Given the description of an element on the screen output the (x, y) to click on. 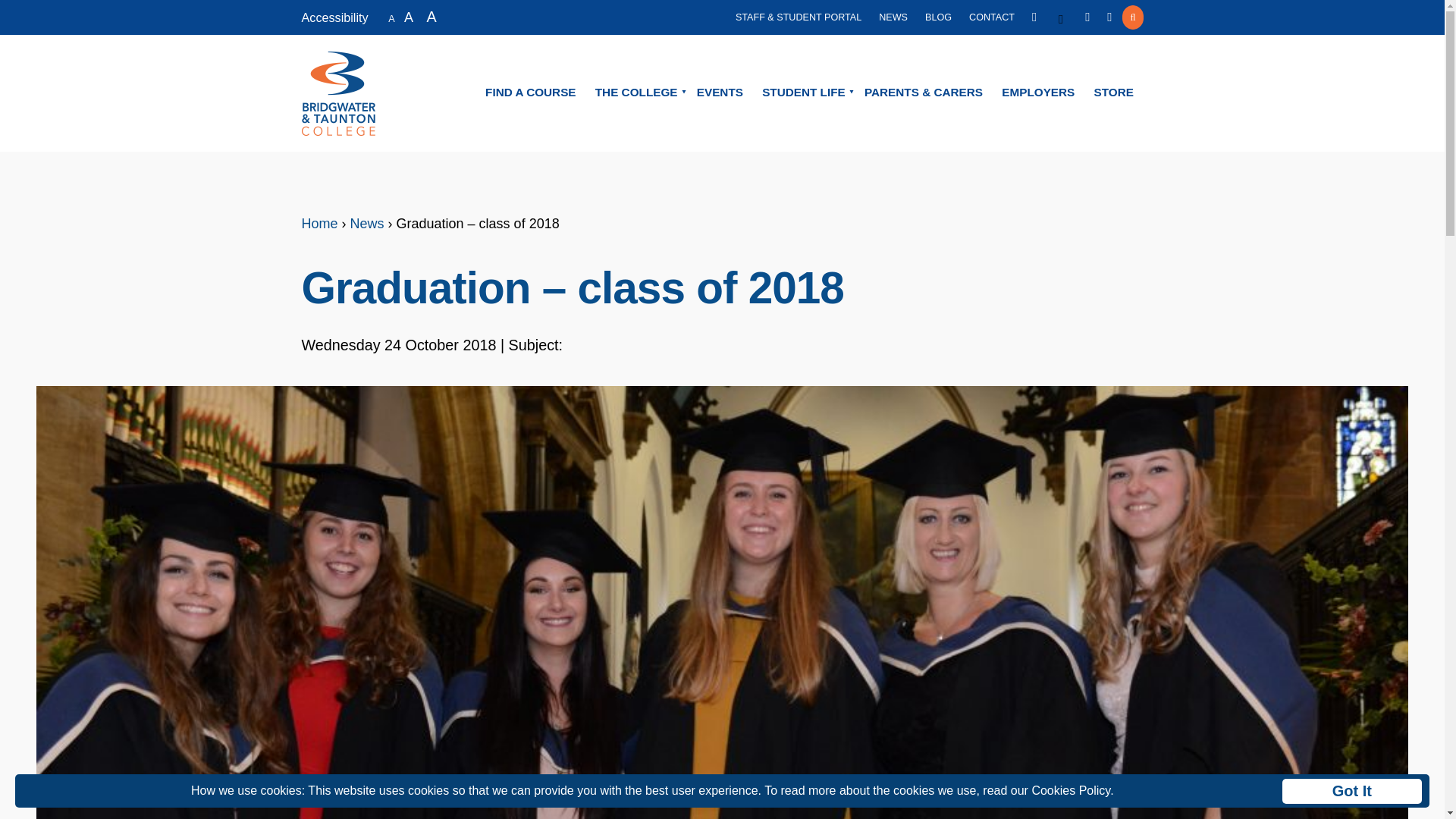
Home (319, 223)
NEWS (893, 17)
CONTACT (992, 17)
A (432, 15)
BLOG (938, 17)
News (367, 223)
